Given the description of an element on the screen output the (x, y) to click on. 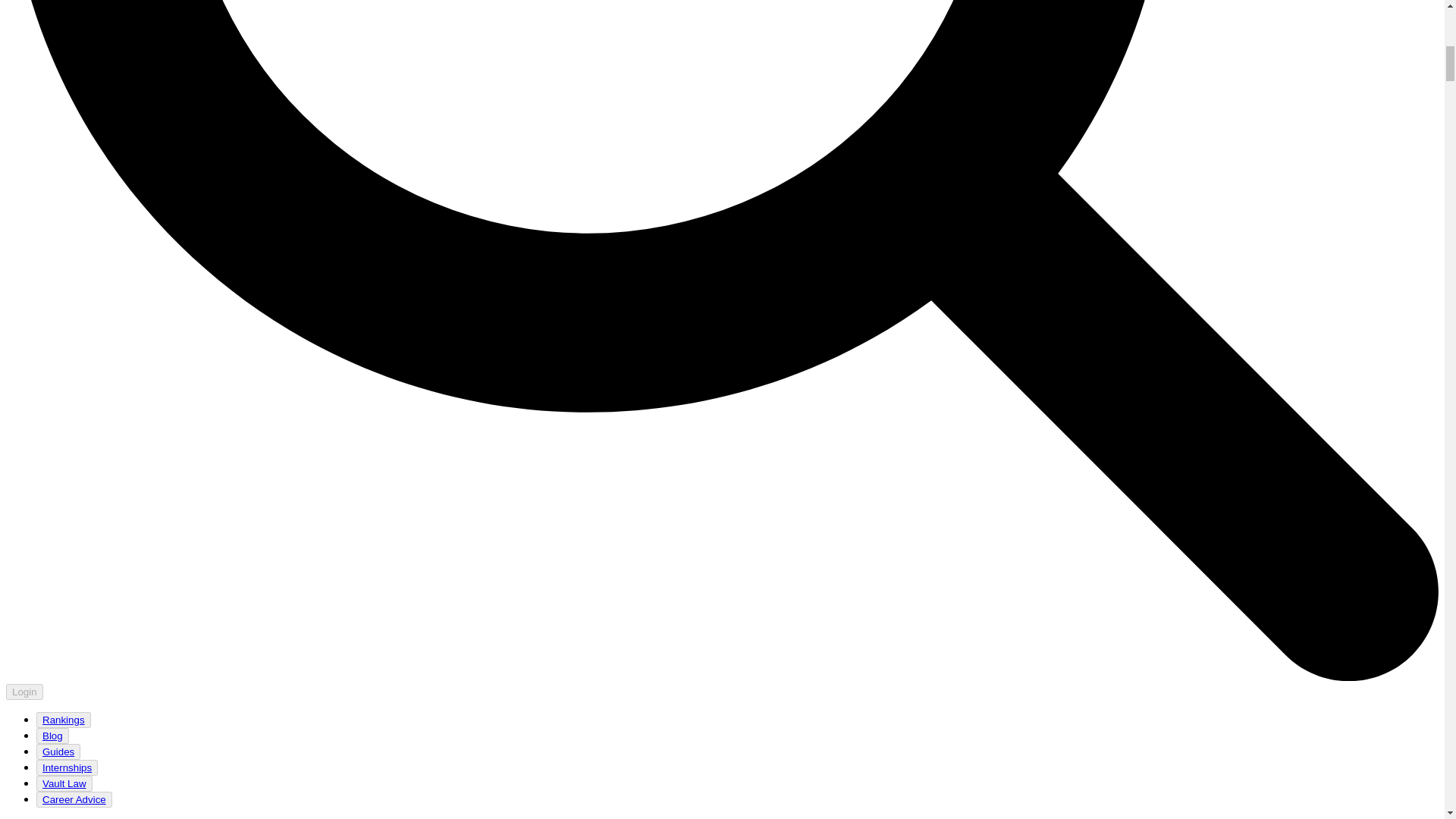
Guides (58, 751)
Login (24, 691)
Rankings (63, 719)
Guides (58, 751)
Internships (66, 767)
Vault Law (64, 783)
Career Advice (74, 799)
Blog (52, 736)
Blog (52, 735)
Rankings (63, 719)
